Given the description of an element on the screen output the (x, y) to click on. 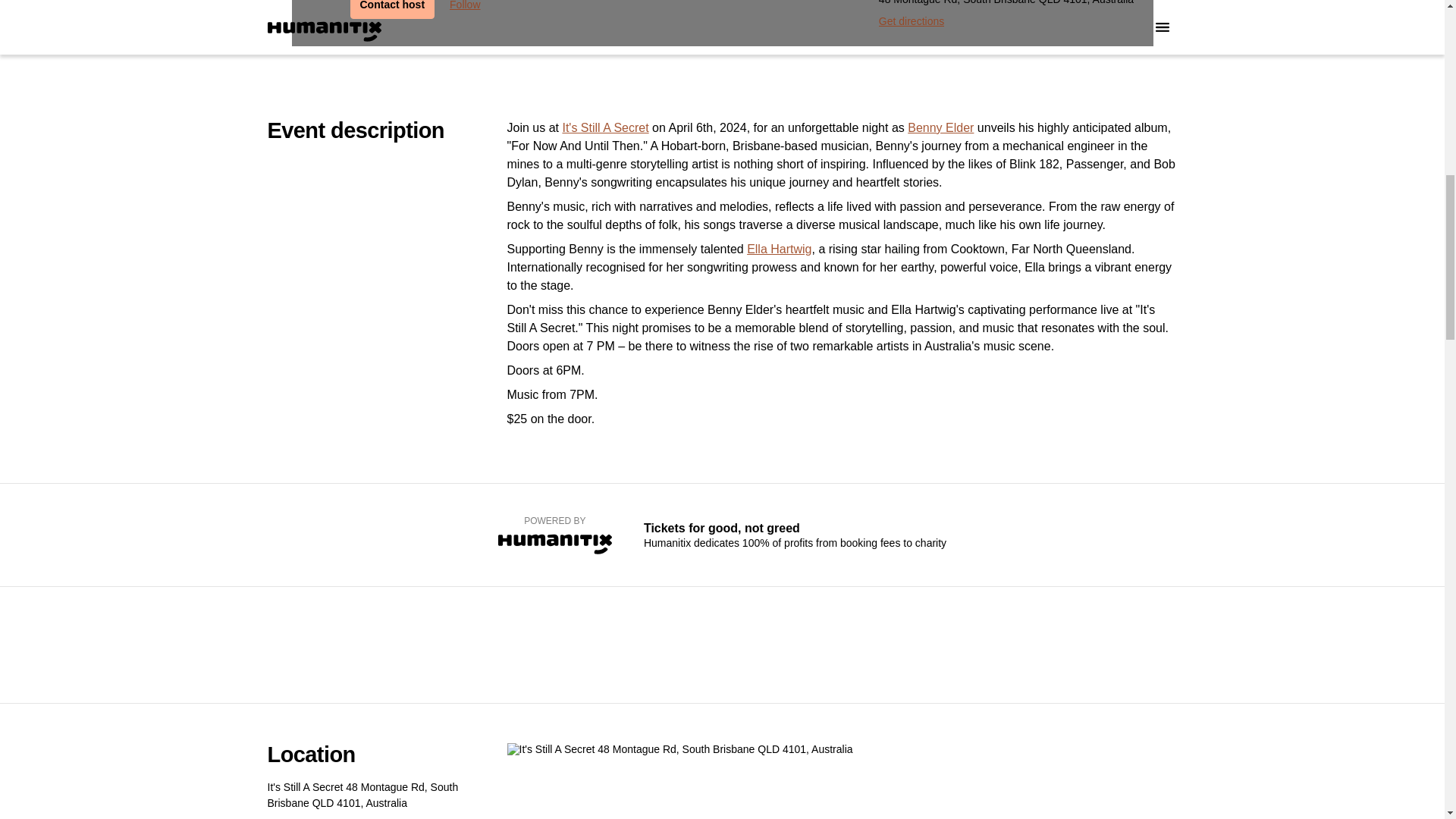
Get directions (911, 21)
Benny Elder (940, 127)
Ella Hartwig (778, 248)
Get directions (298, 815)
It's Still A Secret (604, 127)
Follow (465, 9)
